Given the description of an element on the screen output the (x, y) to click on. 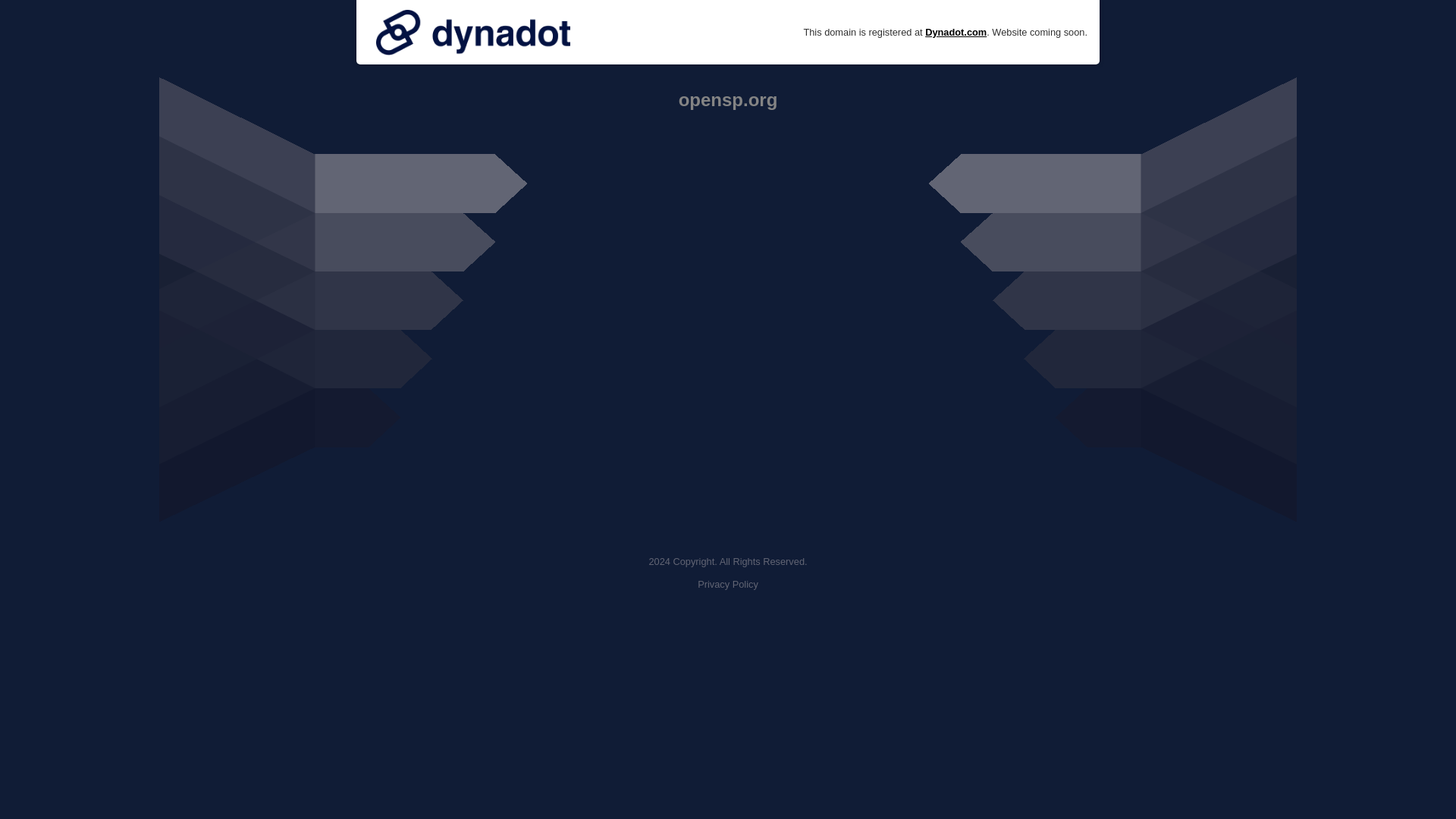
Domain managed at Dynadot.com (473, 31)
Dynadot.com (955, 31)
Privacy Policy (727, 583)
